Given the description of an element on the screen output the (x, y) to click on. 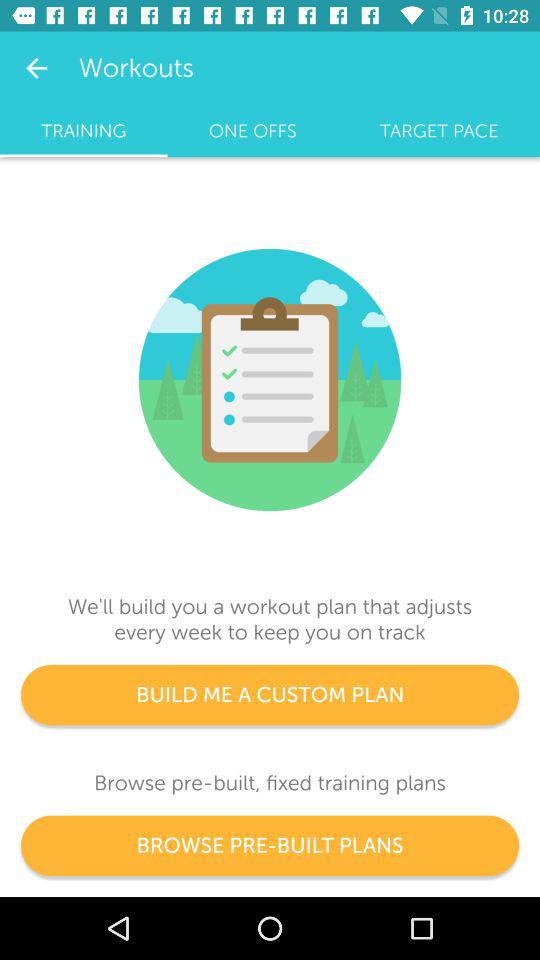
tap the icon to the right of the training (252, 131)
